Given the description of an element on the screen output the (x, y) to click on. 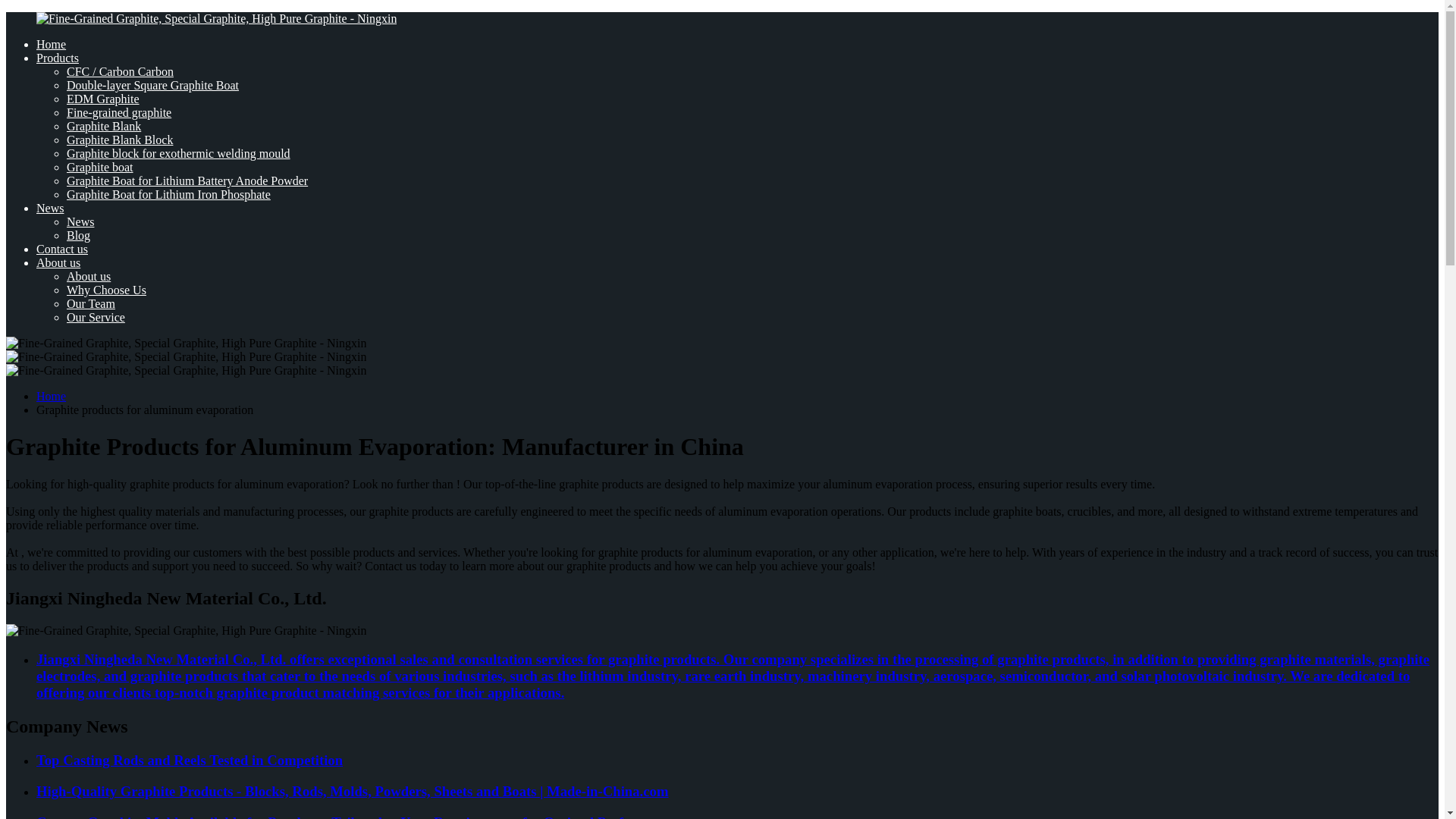
Blog (78, 235)
About us (88, 276)
Graphite boat (99, 166)
Graphite Blank Block (119, 139)
Double-layer Square Graphite Boat (152, 84)
Products (57, 57)
Graphite block for exothermic welding mould (177, 153)
Our Service (95, 317)
Graphite Boat for Lithium Iron Phosphate (168, 194)
News (80, 221)
Our Team (90, 303)
About us (58, 262)
Contact us (61, 248)
News (50, 207)
Fine-grained graphite (118, 112)
